Given the description of an element on the screen output the (x, y) to click on. 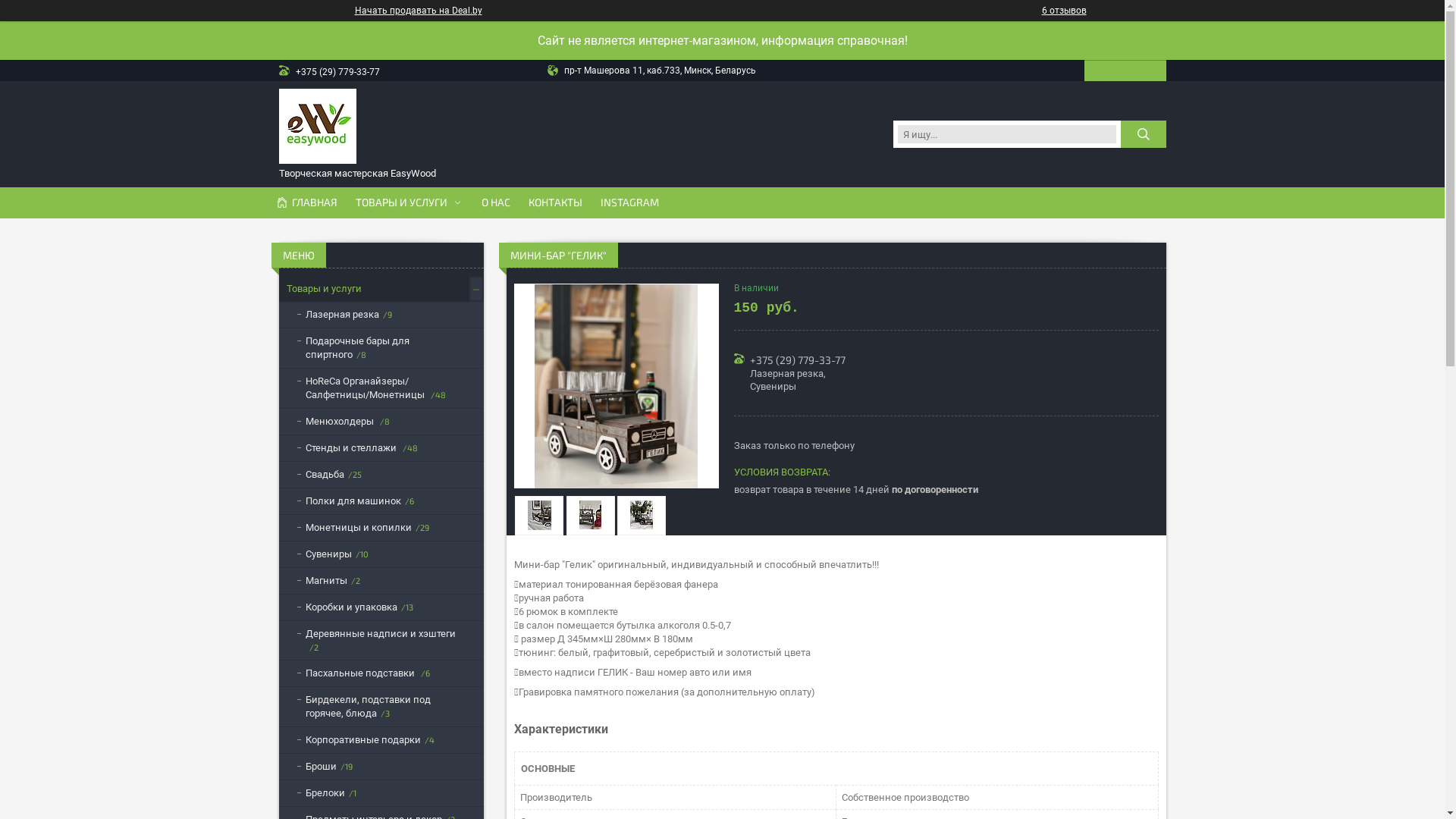
INSTAGRAM Element type: text (629, 202)
